Given the description of an element on the screen output the (x, y) to click on. 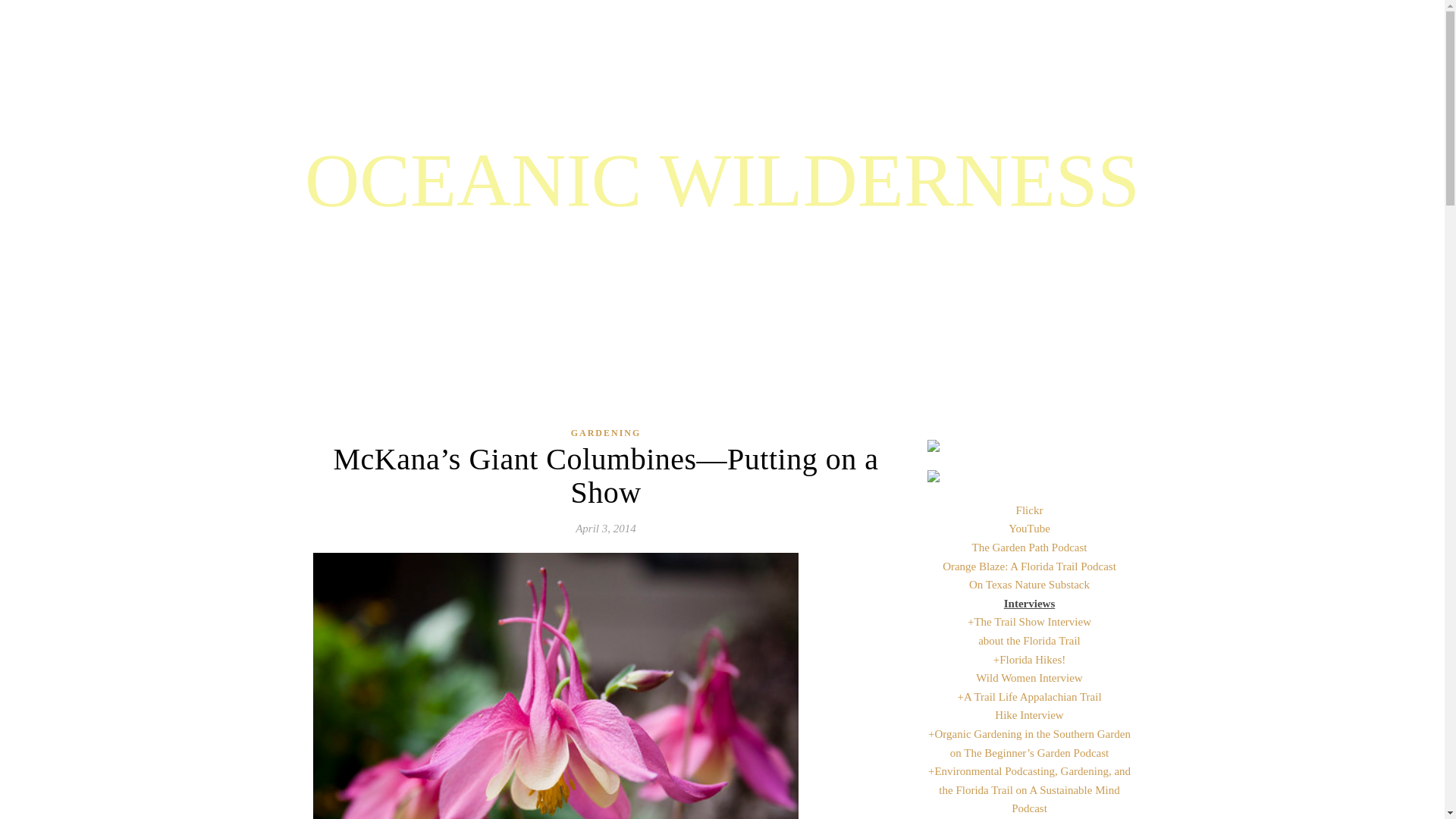
Orange Blaze: A Florida Trail Podcast (1029, 566)
Flickr (1029, 510)
The Garden Path Podcast (1028, 547)
On Texas Nature Substack (1029, 584)
GARDENING (606, 433)
YouTube (1029, 528)
